Given the description of an element on the screen output the (x, y) to click on. 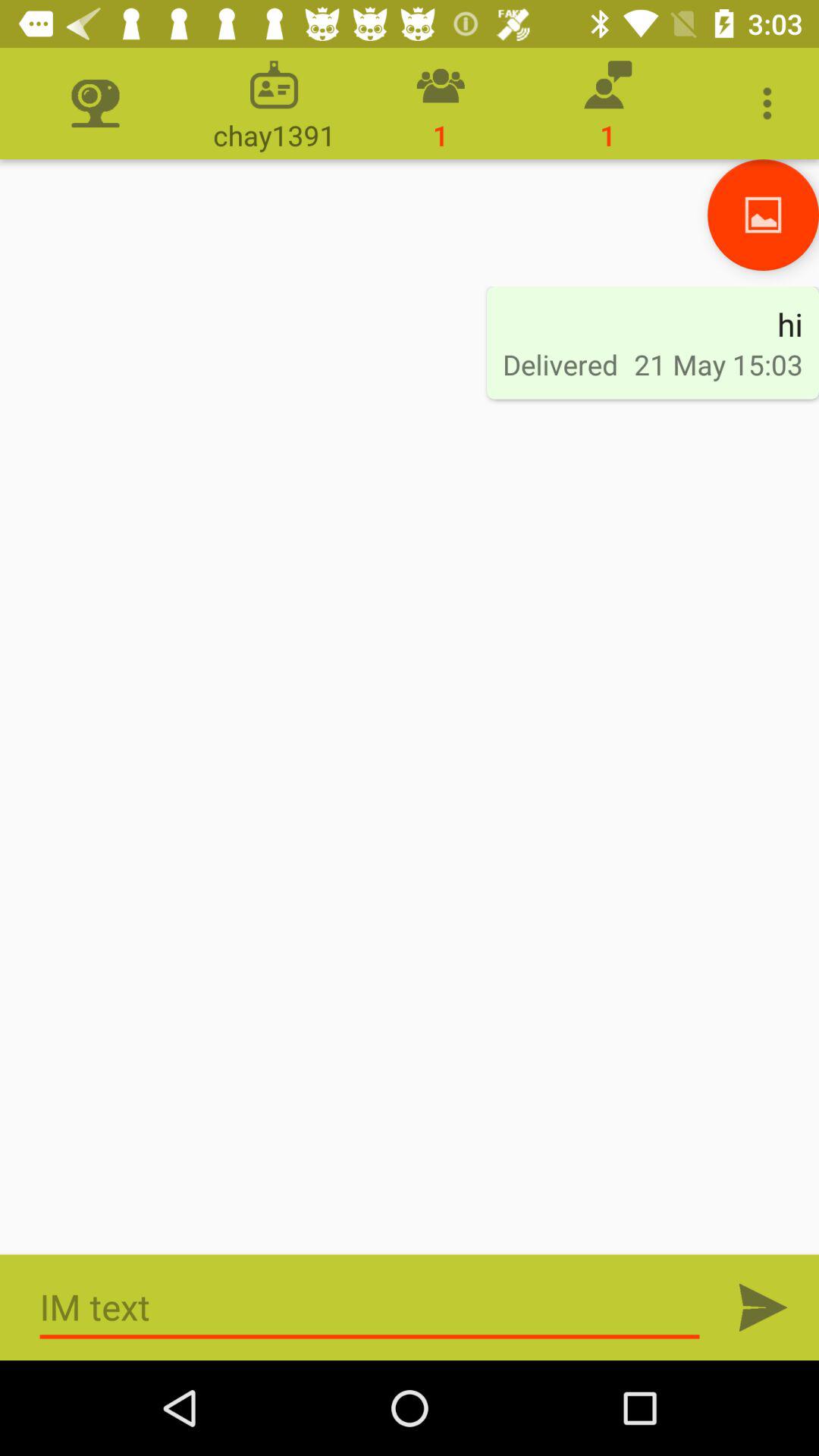
go to previous (763, 214)
